Given the description of an element on the screen output the (x, y) to click on. 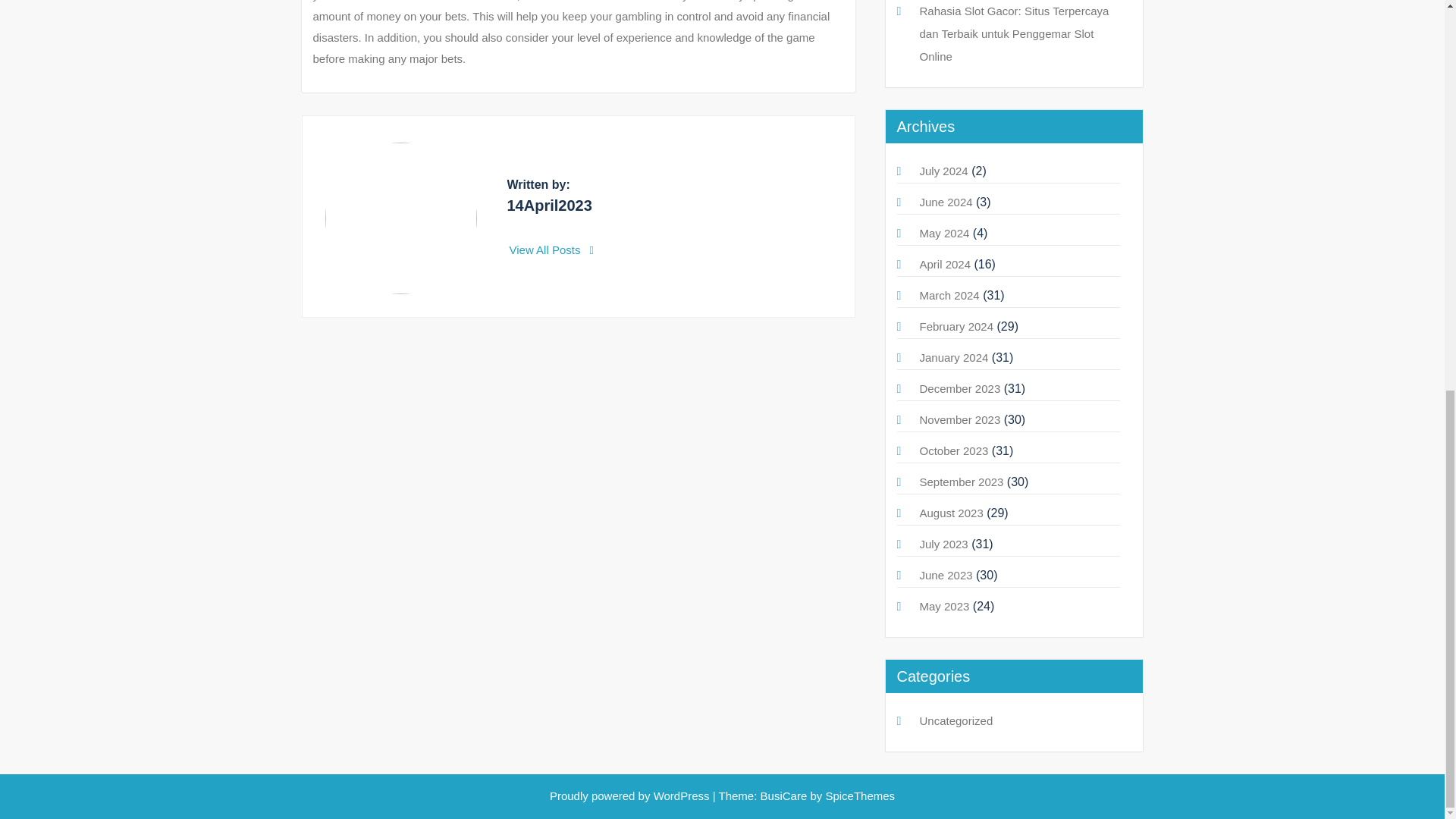
May 2023 (943, 605)
January 2024 (953, 357)
June 2023 (945, 574)
Uncategorized (955, 720)
WordPress (681, 795)
View All Posts (551, 249)
October 2023 (953, 450)
February 2024 (955, 326)
May 2024 (943, 232)
March 2024 (948, 295)
September 2023 (960, 481)
July 2023 (943, 543)
SpiceThemes (858, 795)
April 2024 (944, 264)
